Given the description of an element on the screen output the (x, y) to click on. 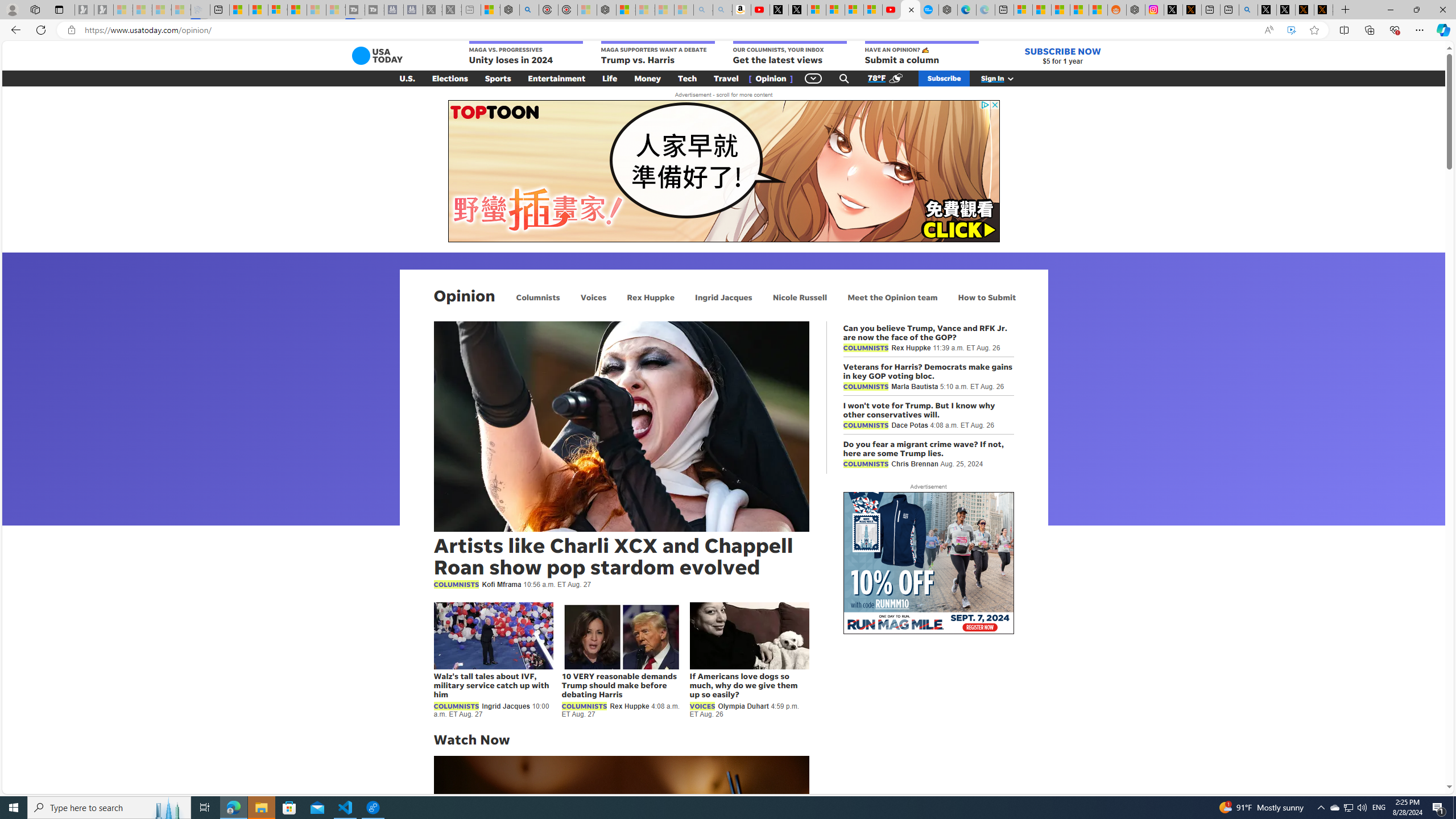
U.S. (406, 78)
AutomationID: aw0 (928, 563)
Shanghai, China hourly forecast | Microsoft Weather (1060, 9)
Global Navigation (813, 78)
Travel (725, 78)
X - Sleeping (450, 9)
Enhance video (1291, 29)
Ingrid Jacques (723, 296)
Nordace - Nordace has arrived Hong Kong (947, 9)
